Given the description of an element on the screen output the (x, y) to click on. 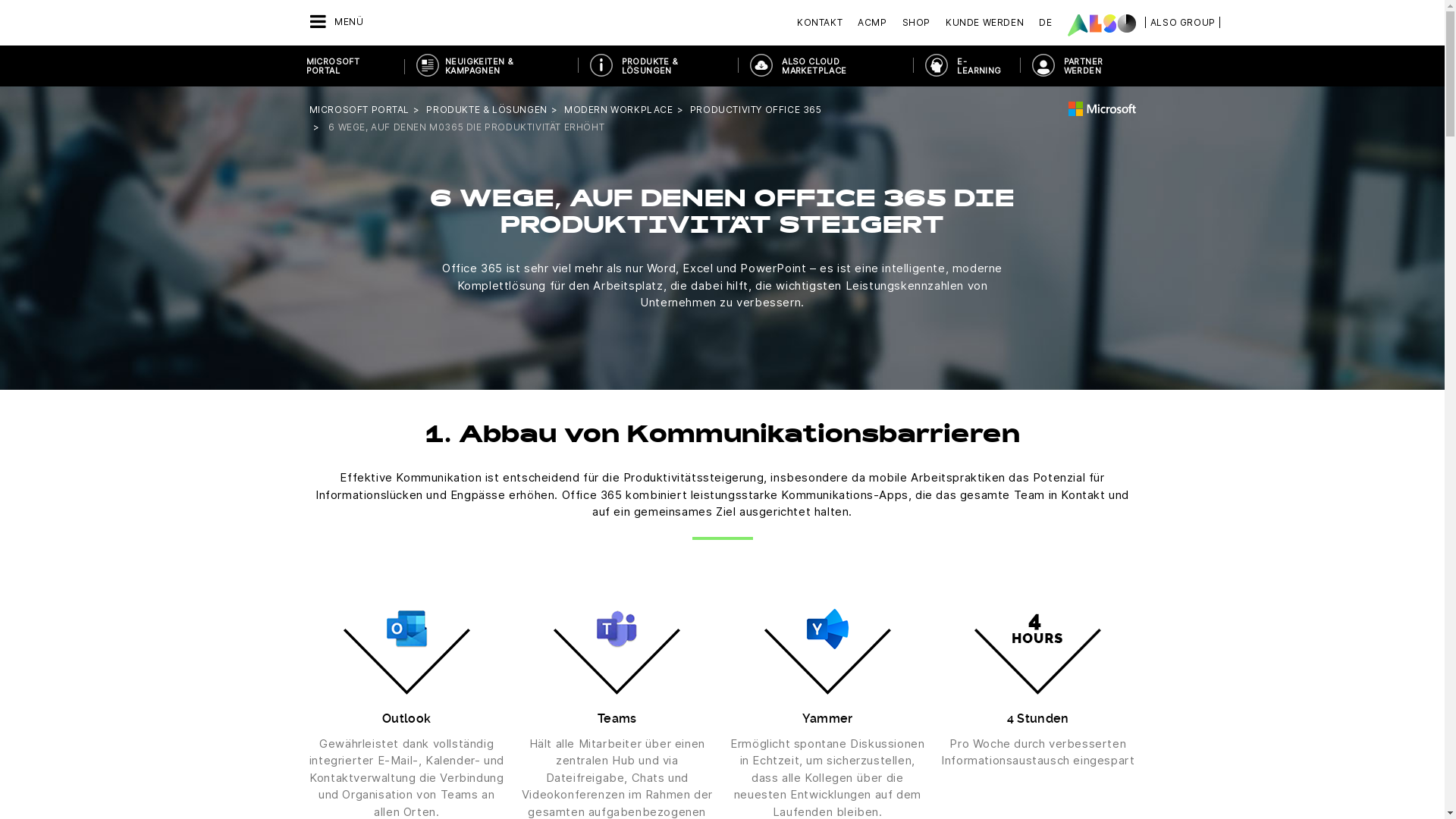
ACMP Element type: text (872, 22)
MODERN WORKPLACE Element type: text (618, 109)
DE Element type: text (1045, 22)
E-LEARNING Element type: text (966, 65)
MICROSOFT PORTAL Element type: text (349, 65)
ALSO CLOUD MARKETPLACE Element type: text (825, 65)
KUNDE WERDEN Element type: text (984, 22)
MICROSOFT PORTAL Element type: text (359, 109)
KONTAKT Element type: text (823, 22)
| ALSO GROUP | Element type: text (1182, 22)
ALSO Schweiz AG Element type: hover (1101, 24)
PRODUCTIVITY OFFICE 365 Element type: text (756, 109)
NEUIGKEITEN & KAMPAGNEN Element type: text (490, 65)
PARTNER WERDEN Element type: text (1085, 65)
SHOP Element type: text (916, 22)
